Given the description of an element on the screen output the (x, y) to click on. 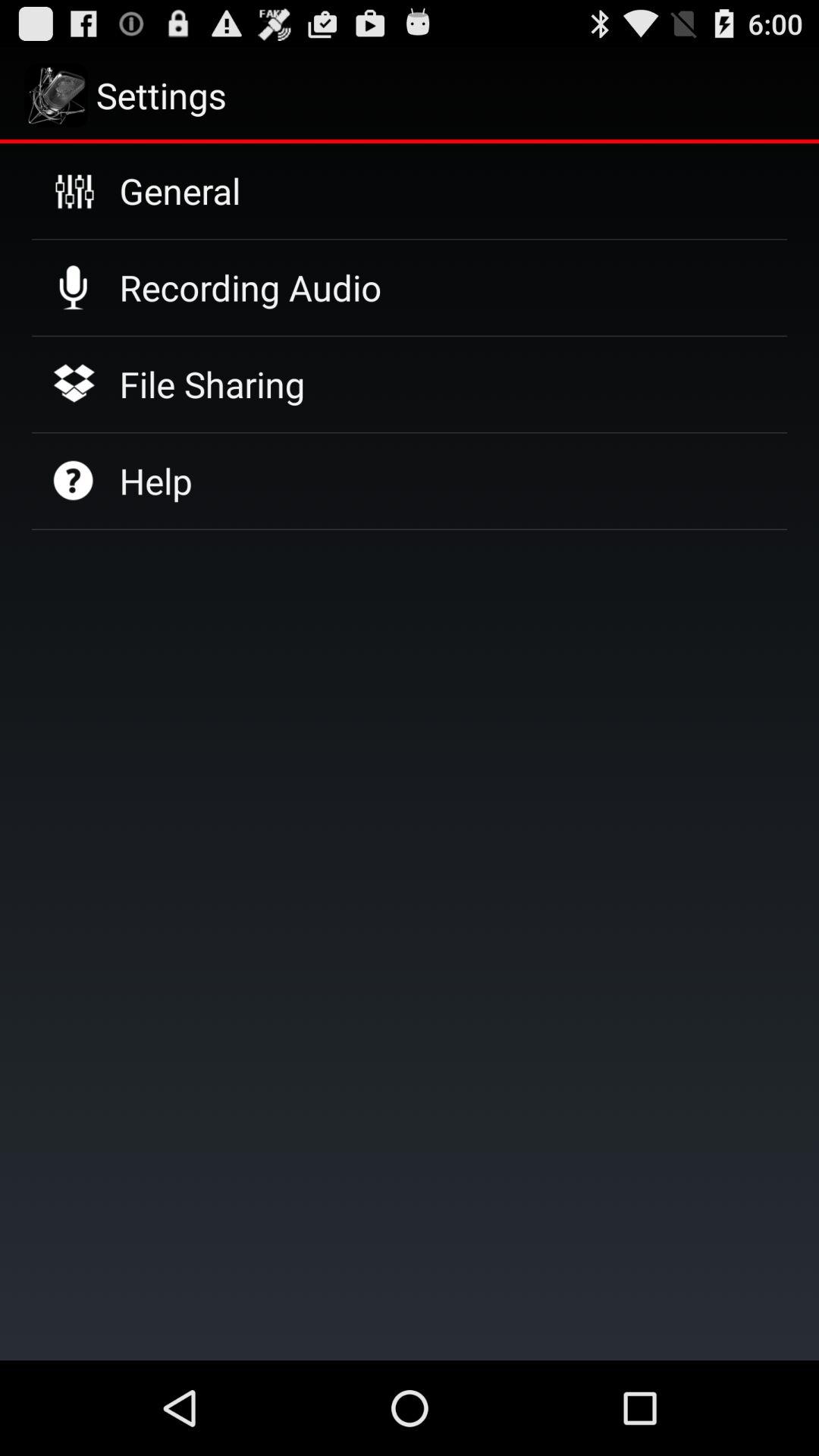
launch the icon above the recording audio app (179, 190)
